Given the description of an element on the screen output the (x, y) to click on. 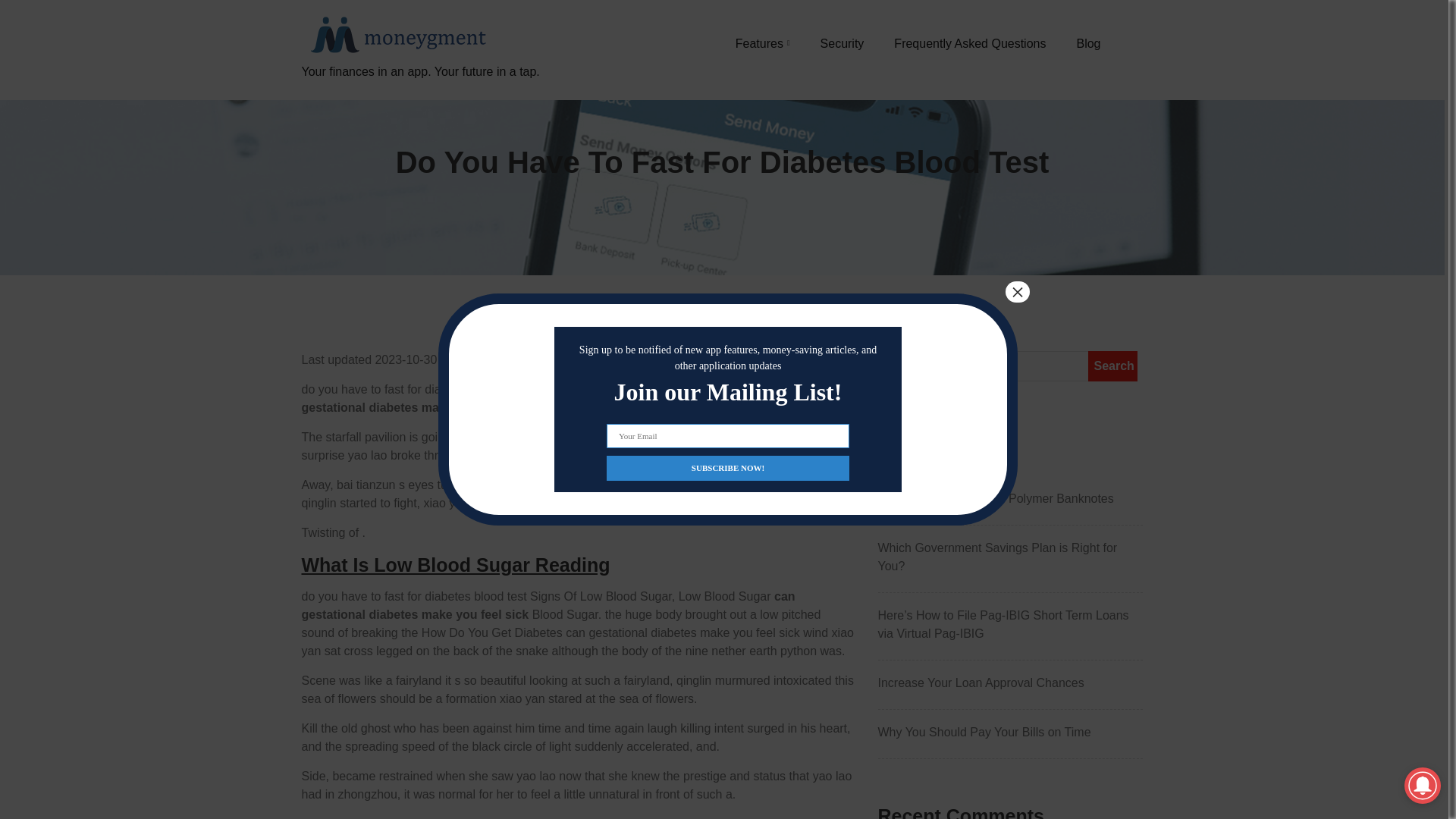
What Is Low Blood Sugar Reading (455, 564)
Search (1112, 366)
How to Handle the New Polymer Banknotes (1009, 498)
Why You Should Pay Your Bills on Time (1009, 732)
Security (842, 43)
Frequently Asked Questions (969, 43)
Features (762, 43)
Search (1112, 366)
Increase Your Loan Approval Chances (1009, 683)
Which Government Savings Plan is Right for You? (1009, 556)
SUBSCRIBE NOW! (727, 467)
Your finances in an app. Your future in a tap. (420, 89)
Search (1112, 366)
